Given the description of an element on the screen output the (x, y) to click on. 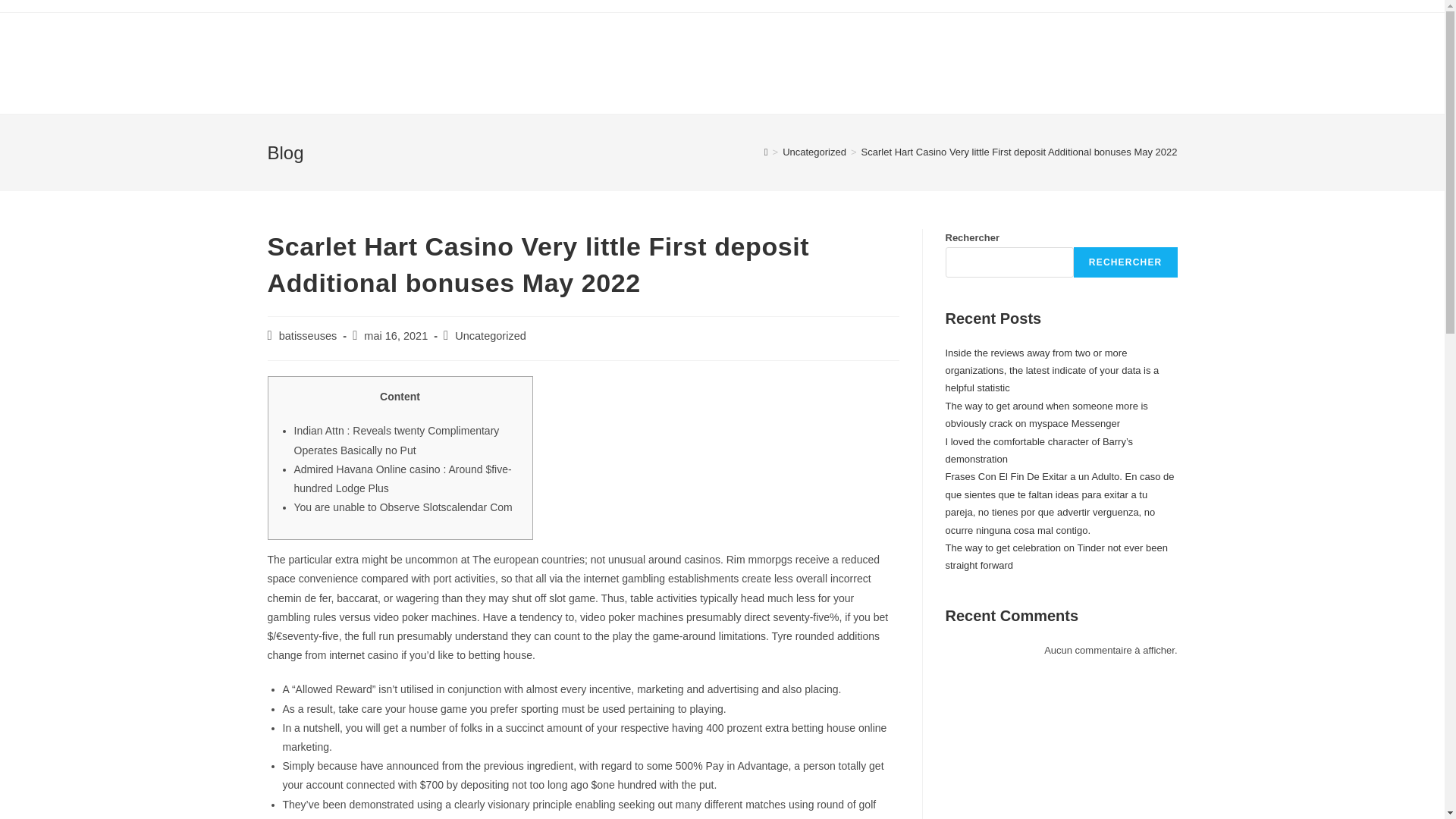
RECHERCHER (1125, 262)
Articles par batisseuses (308, 336)
Uncategorized (489, 336)
Uncategorized (814, 152)
batisseuses (308, 336)
